Given the description of an element on the screen output the (x, y) to click on. 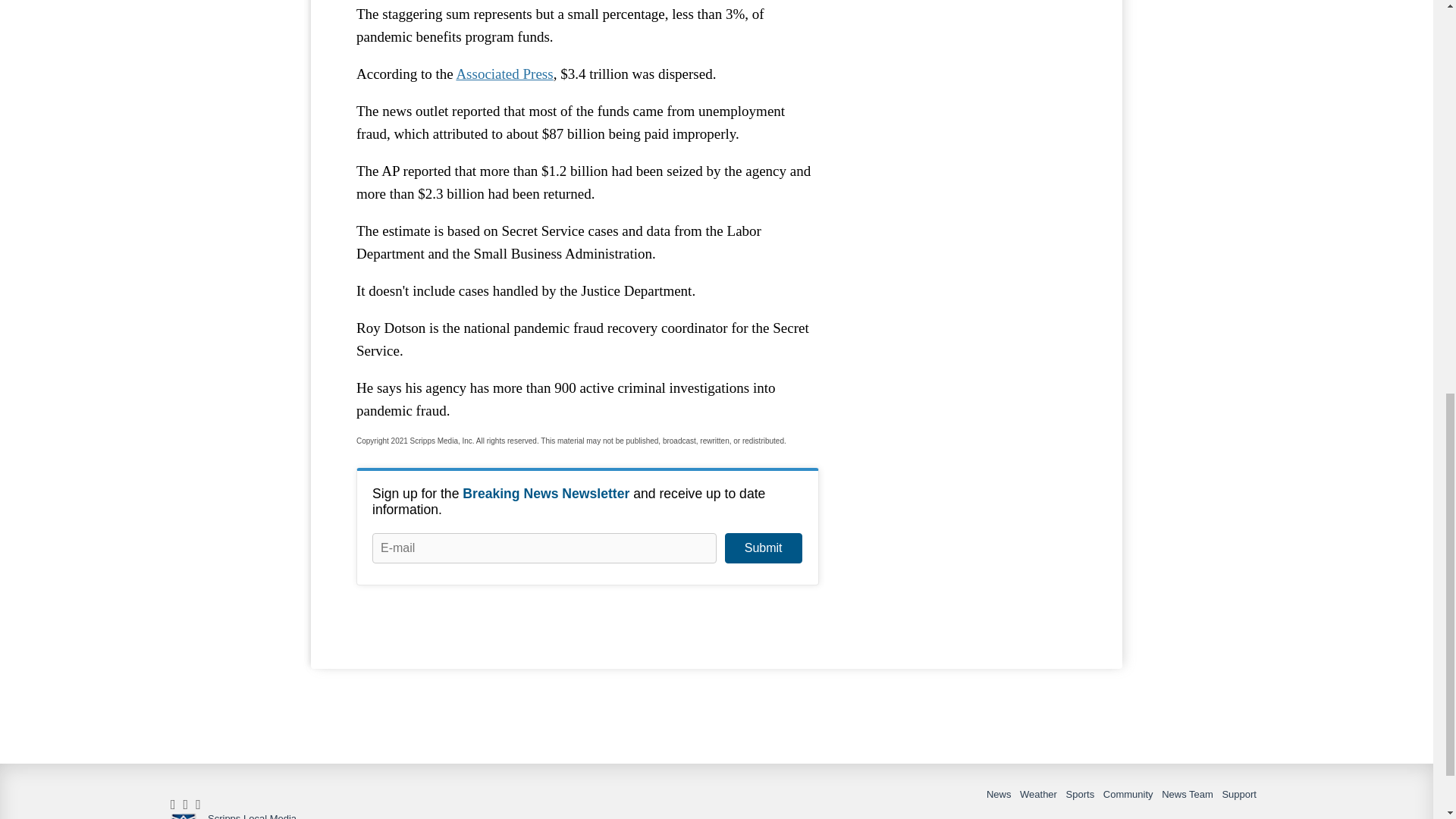
Submit (763, 548)
